Given the description of an element on the screen output the (x, y) to click on. 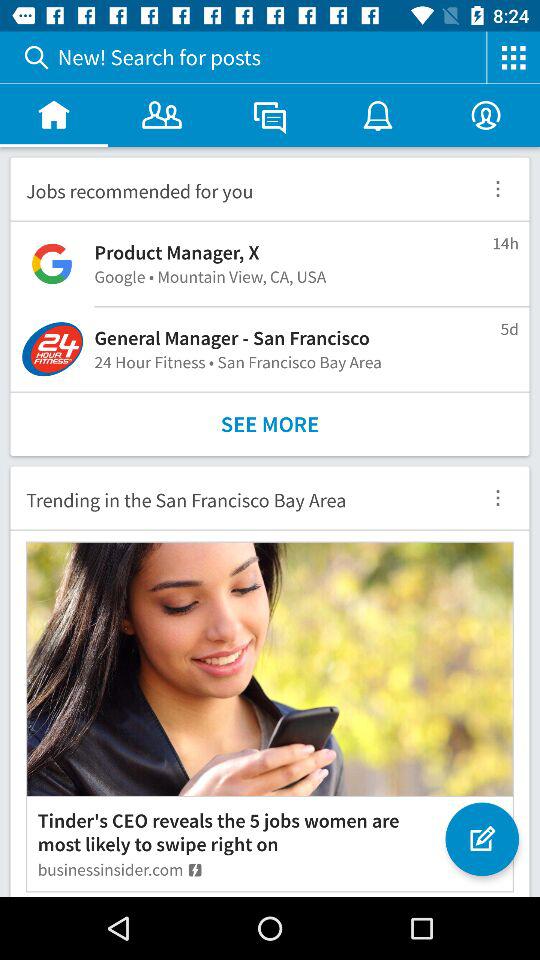
turn on the trending in the item (238, 497)
